Given the description of an element on the screen output the (x, y) to click on. 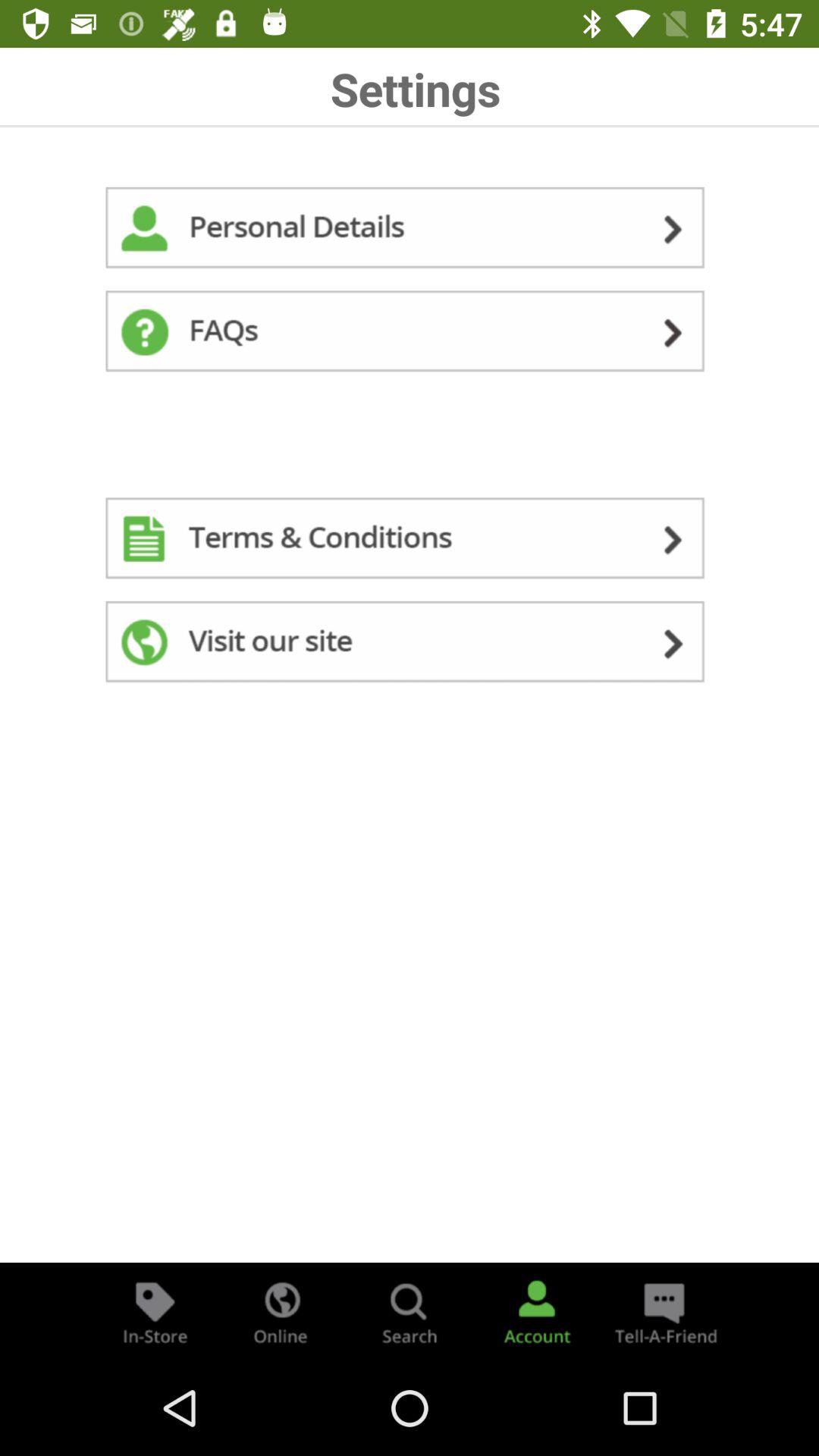
go to account settings (536, 1311)
